Given the description of an element on the screen output the (x, y) to click on. 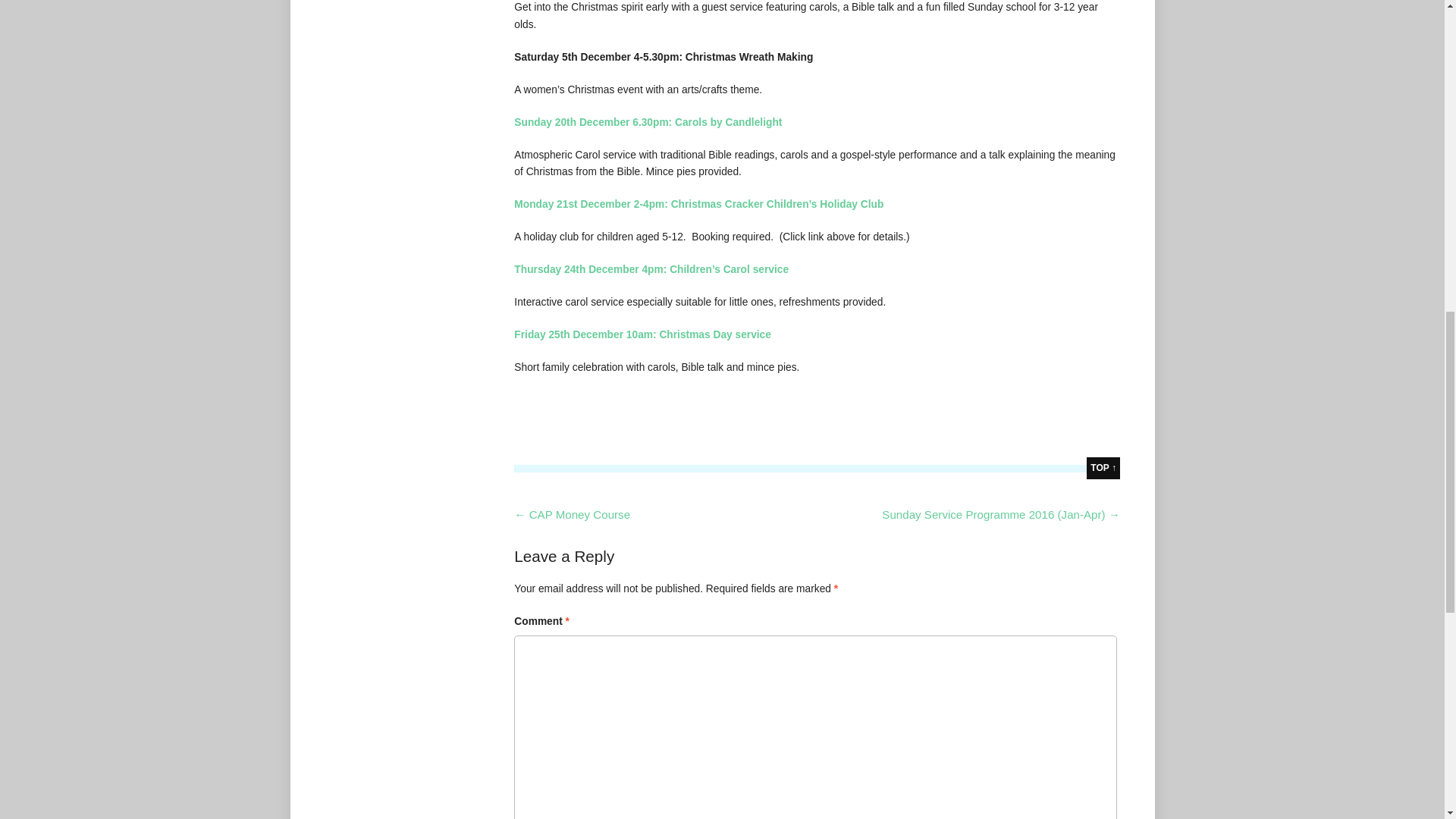
Friday 25th December 10am: Christmas Day service (642, 334)
Sunday 20th December 6.30pm: Carols by Candlelight (647, 122)
